Given the description of an element on the screen output the (x, y) to click on. 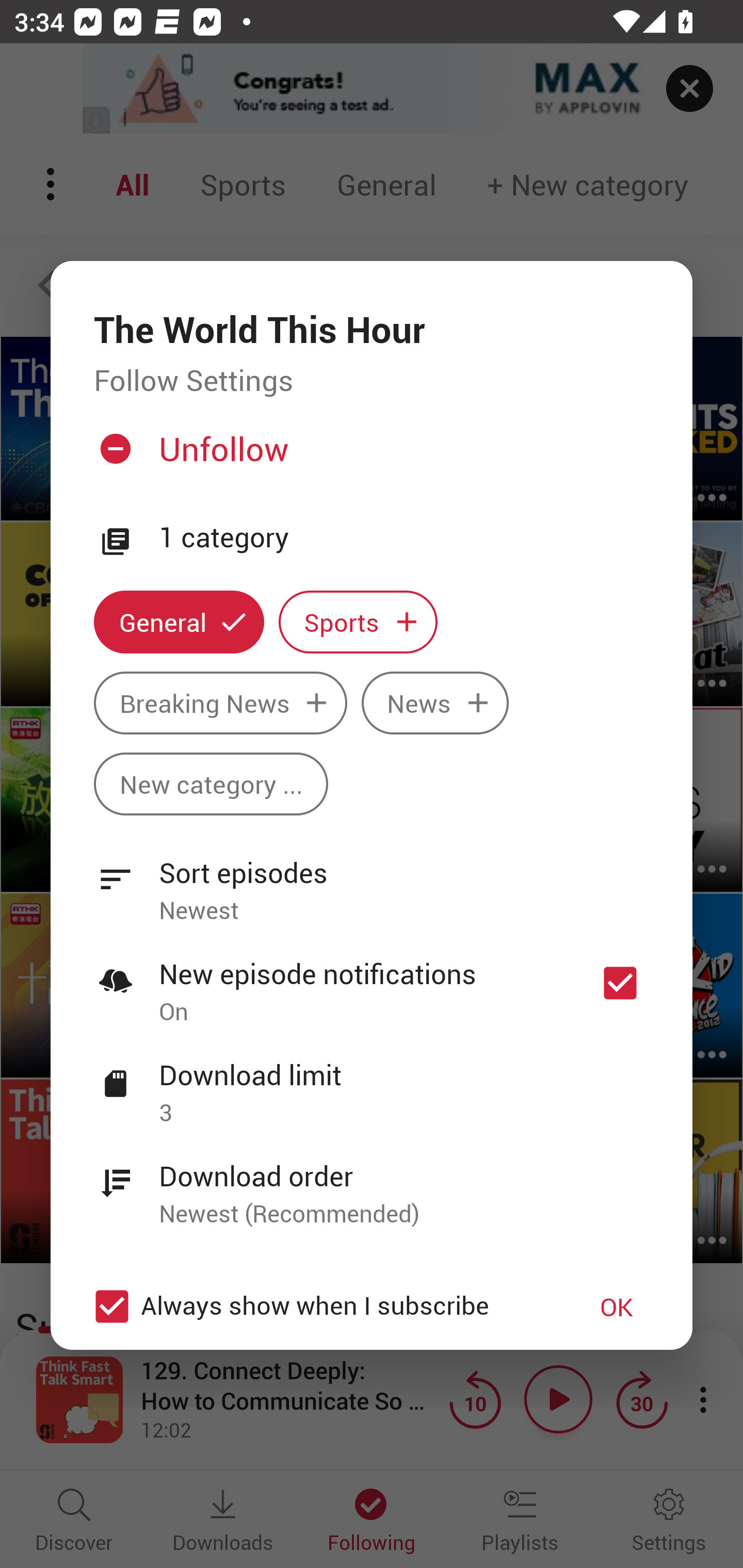
Unfollow (369, 456)
1 category (404, 537)
General (178, 622)
Sports (357, 622)
Breaking News (219, 702)
News (434, 702)
New category ... (210, 783)
Sort episodes Newest (371, 880)
New episode notifications (620, 982)
Download limit 3 (371, 1082)
Download order Newest (Recommended) (371, 1183)
OK (616, 1306)
Always show when I subscribe (320, 1306)
